Given the description of an element on the screen output the (x, y) to click on. 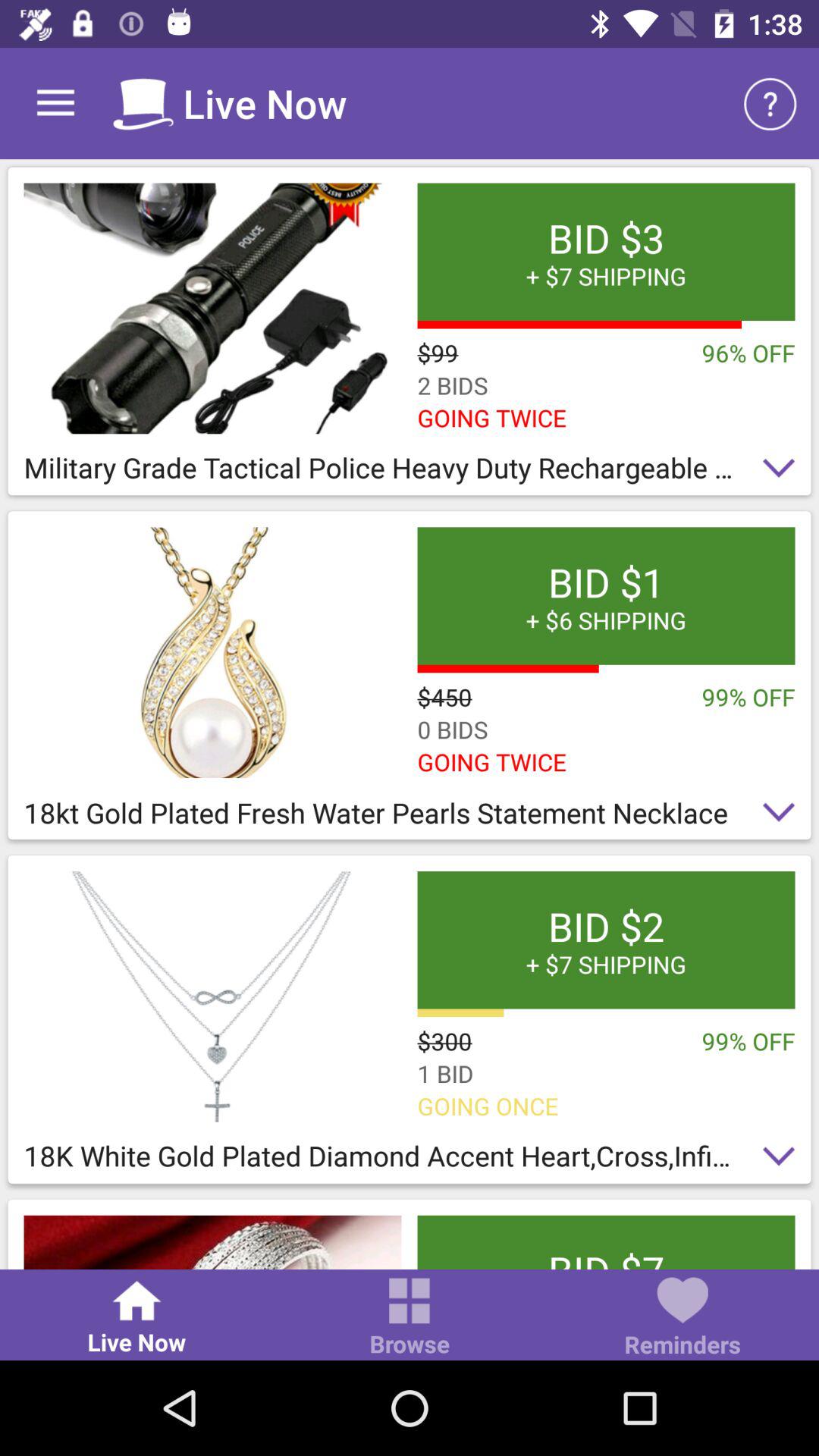
launch the item next to live now (409, 1318)
